Given the description of an element on the screen output the (x, y) to click on. 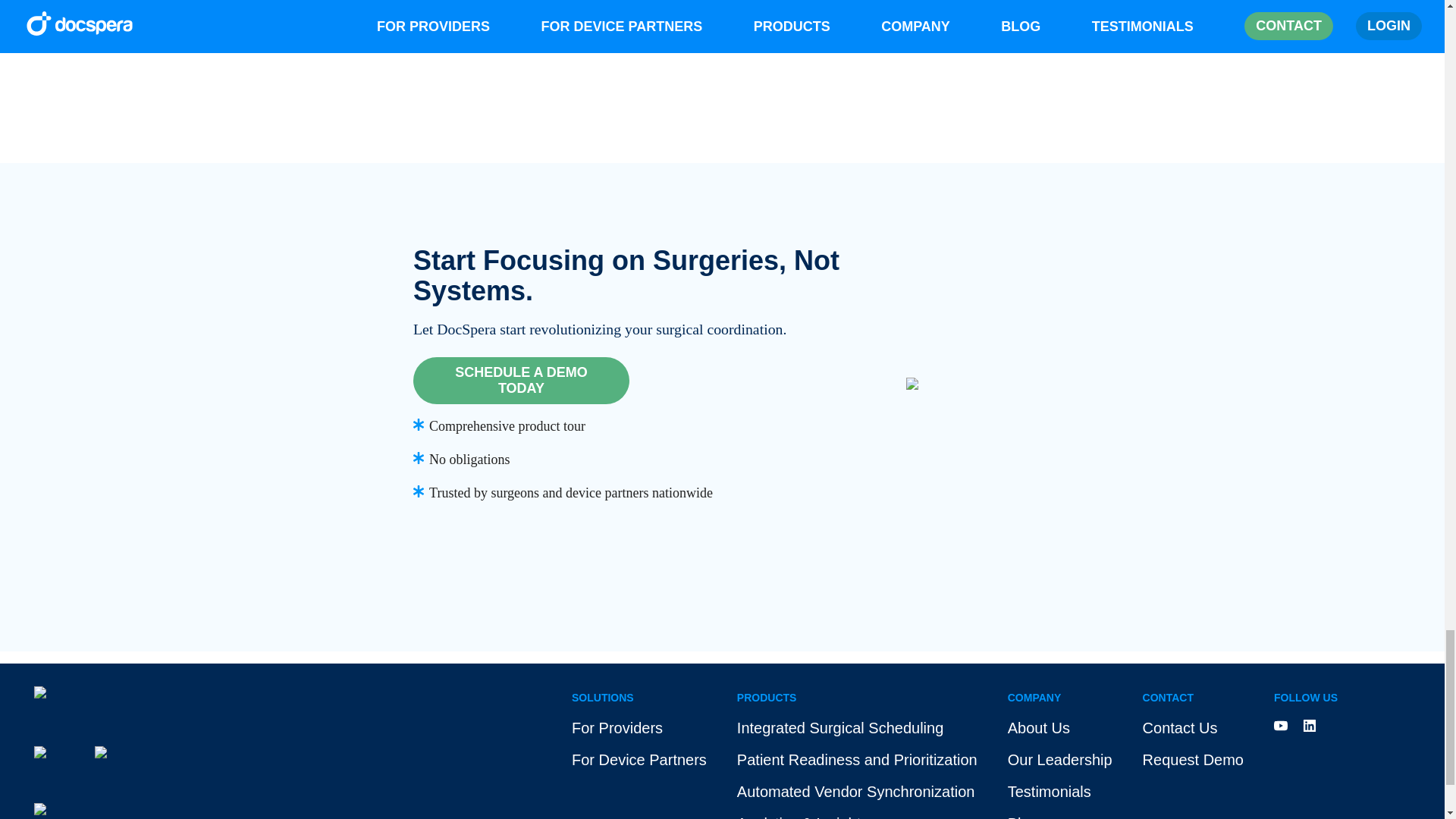
Integrated Surgical Scheduling (856, 740)
About Us (1038, 727)
Contact Us (1192, 740)
Blog (1022, 815)
SCHEDULE A DEMO TODAY (640, 380)
SCHEDULE A DEMO TODAY (520, 380)
Testimonials (1048, 791)
For Device Partners (639, 759)
Our Leadership (1059, 759)
Automated Vendor Synchronization (856, 791)
